Given the description of an element on the screen output the (x, y) to click on. 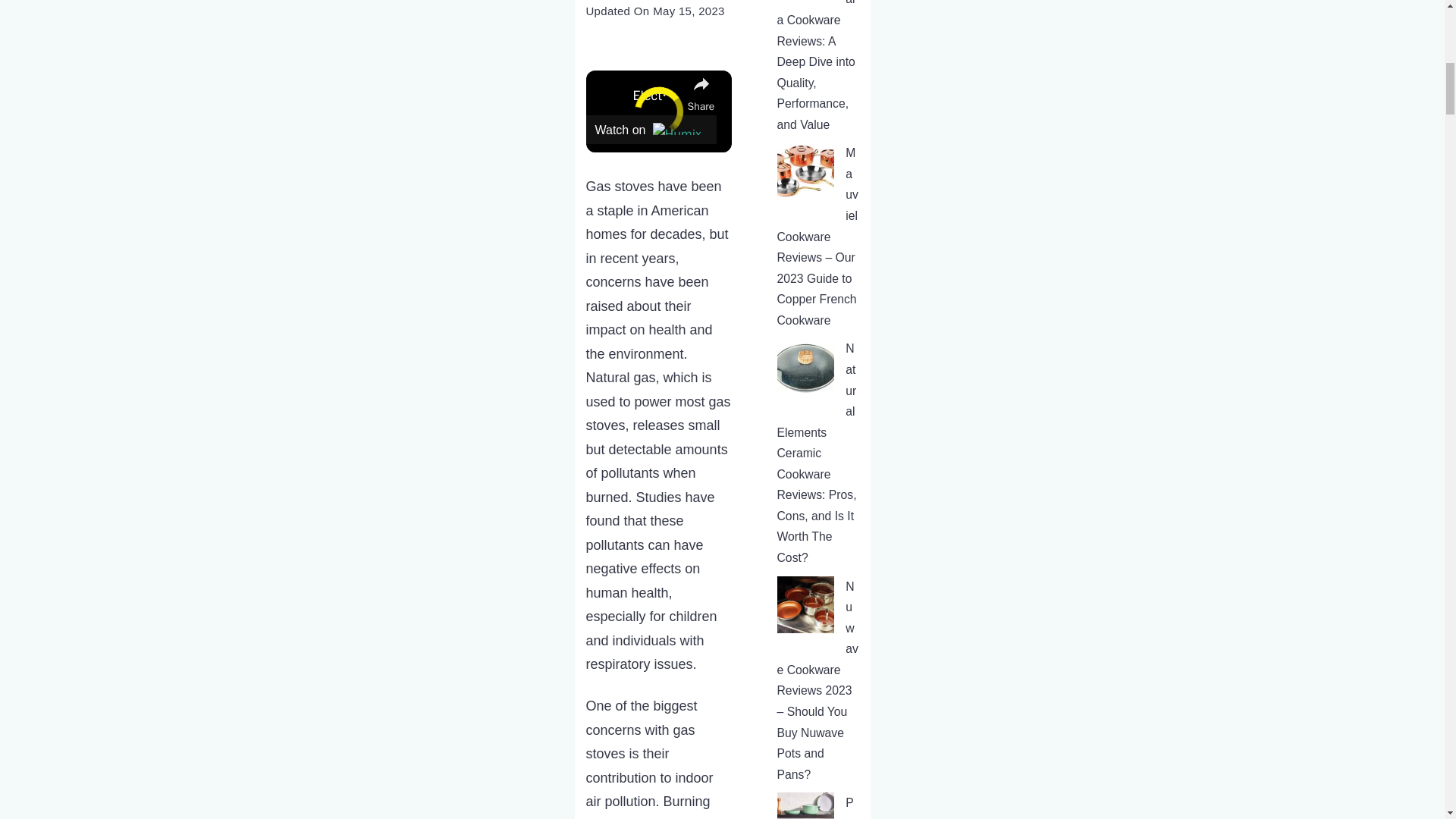
Watch on (650, 129)
